Given the description of an element on the screen output the (x, y) to click on. 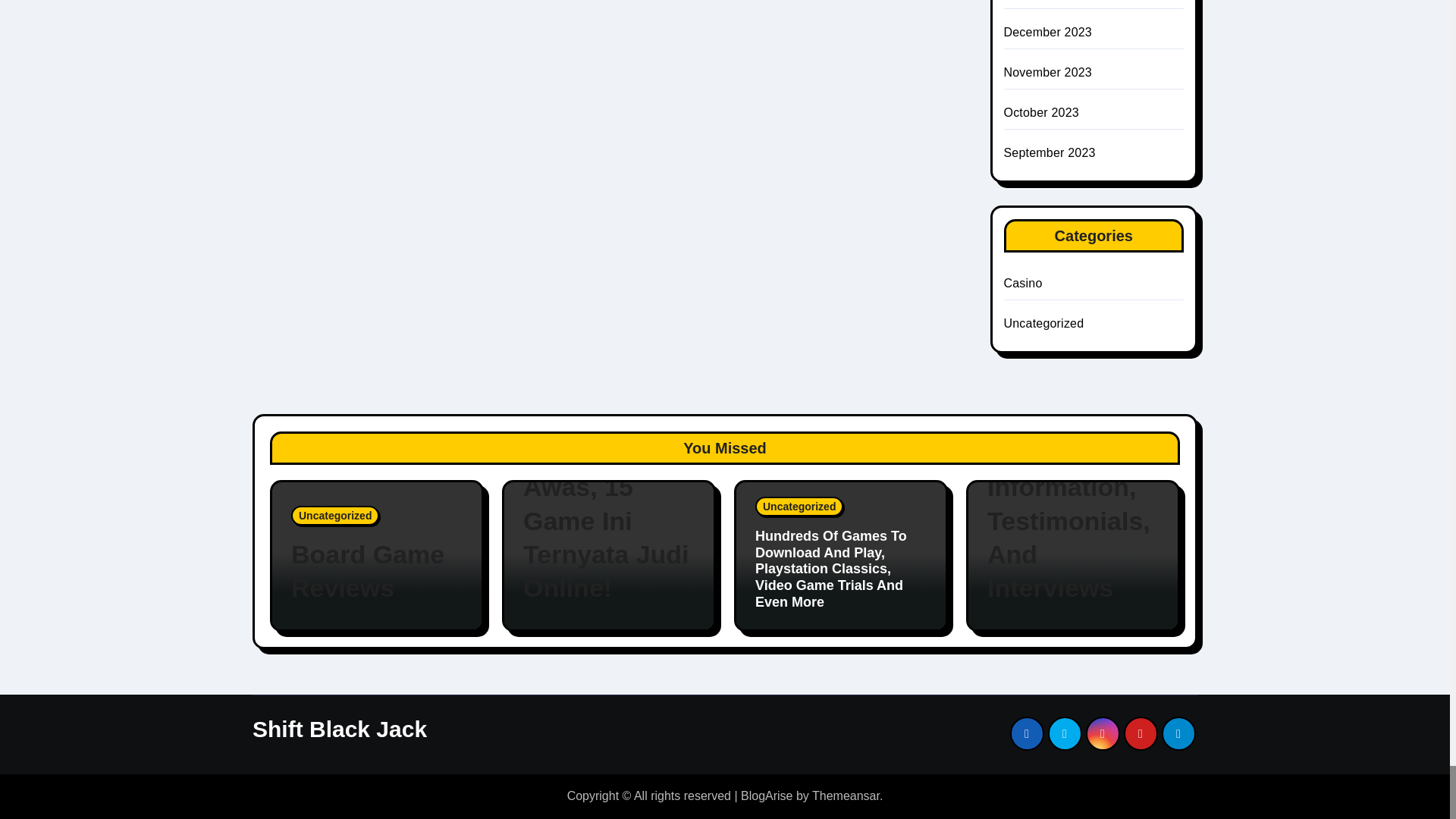
Permalink to: Board Game Reviews (377, 570)
Permalink to: Awas, 15 Game Ini Ternyata Judi Online! (608, 537)
